Given the description of an element on the screen output the (x, y) to click on. 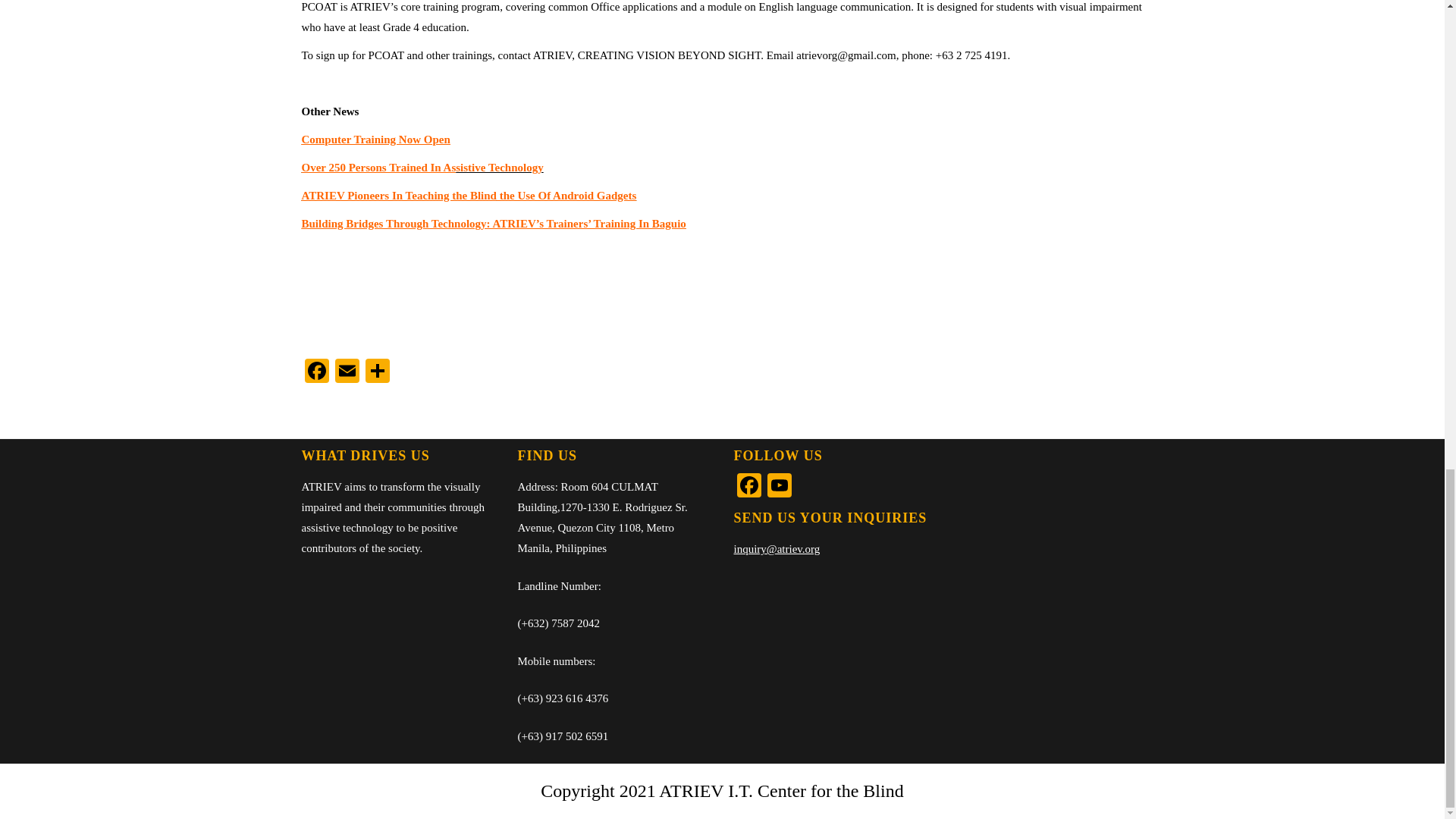
Computer Training Now Open (375, 139)
Over 250 Persons Trained In As (379, 167)
Facebook (748, 487)
Facebook (316, 372)
Email (346, 372)
ATRIEV Pioneers In Teaching the Blind (398, 195)
Facebook (316, 372)
YouTube (779, 487)
